Given the description of an element on the screen output the (x, y) to click on. 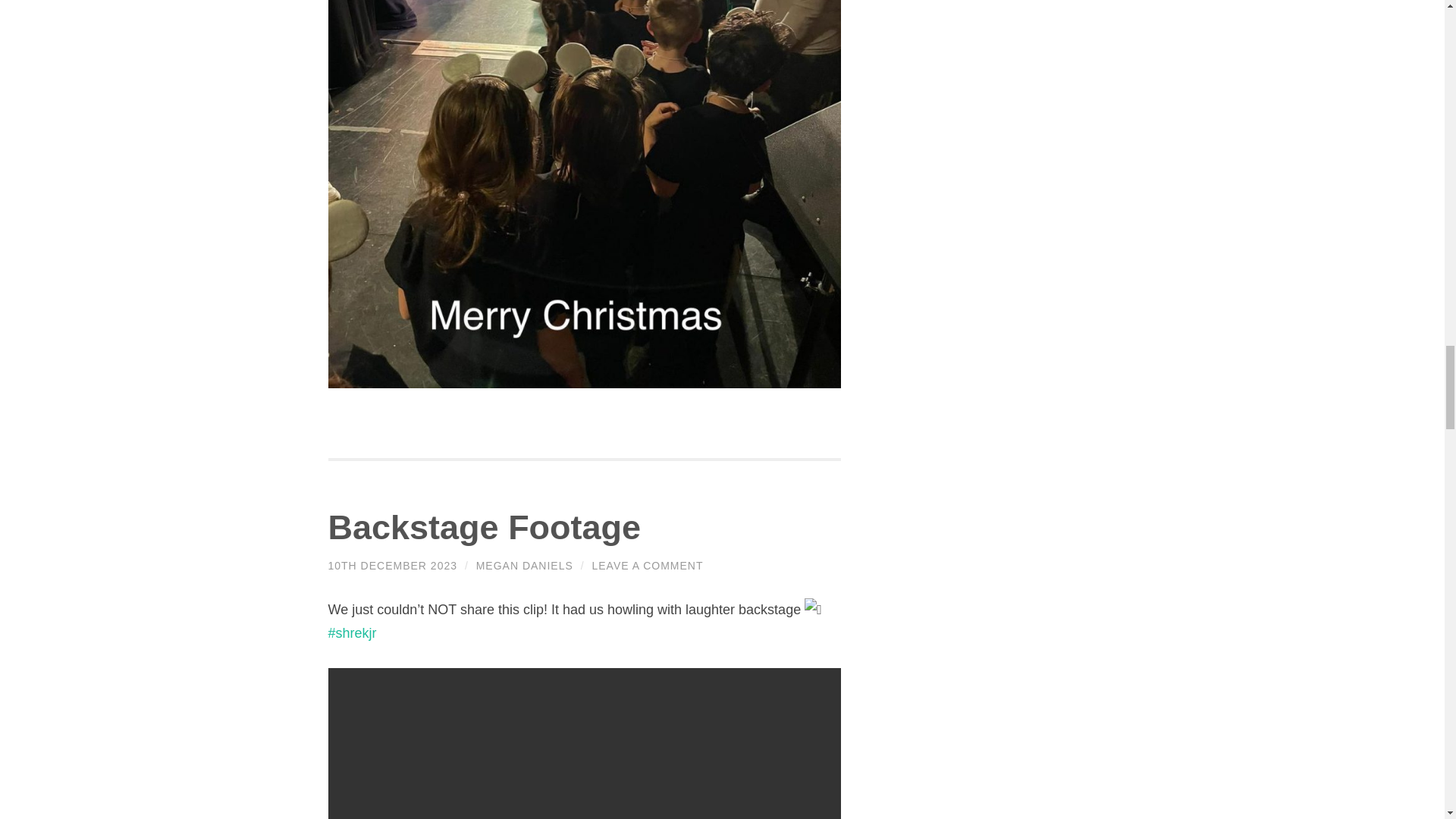
MEGAN DANIELS (524, 565)
10TH DECEMBER 2023 (392, 565)
LEAVE A COMMENT (647, 565)
Backstage Footage (483, 527)
